Given the description of an element on the screen output the (x, y) to click on. 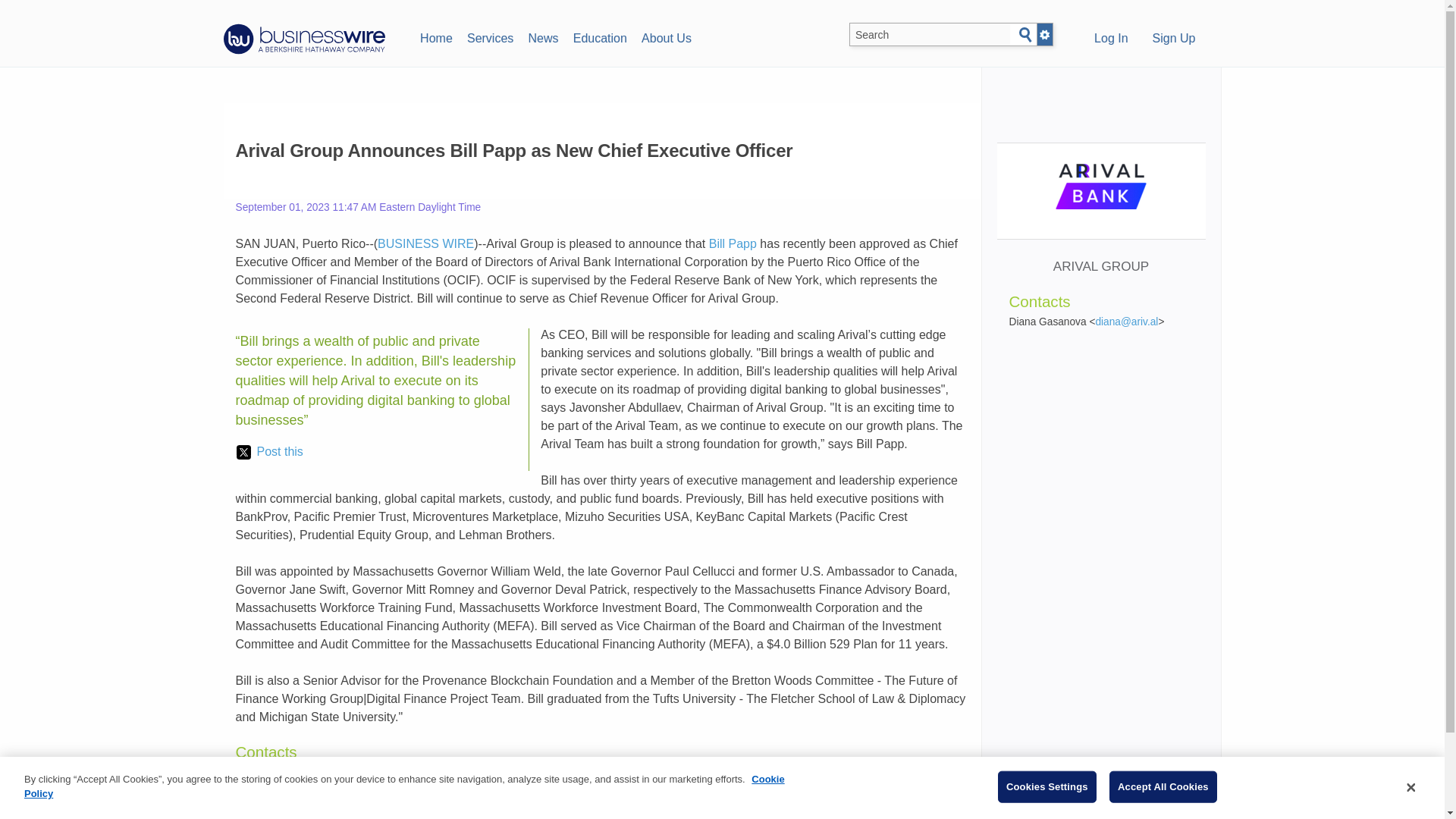
News (543, 36)
Post this (269, 451)
Sign Up (1174, 39)
Search (1025, 34)
Home (436, 36)
About Us (665, 36)
BUSINESS WIRE (425, 243)
Education (599, 36)
Search BusinessWire.com (930, 34)
Log In (1110, 39)
Services (490, 36)
Bill Papp (733, 243)
